Given the description of an element on the screen output the (x, y) to click on. 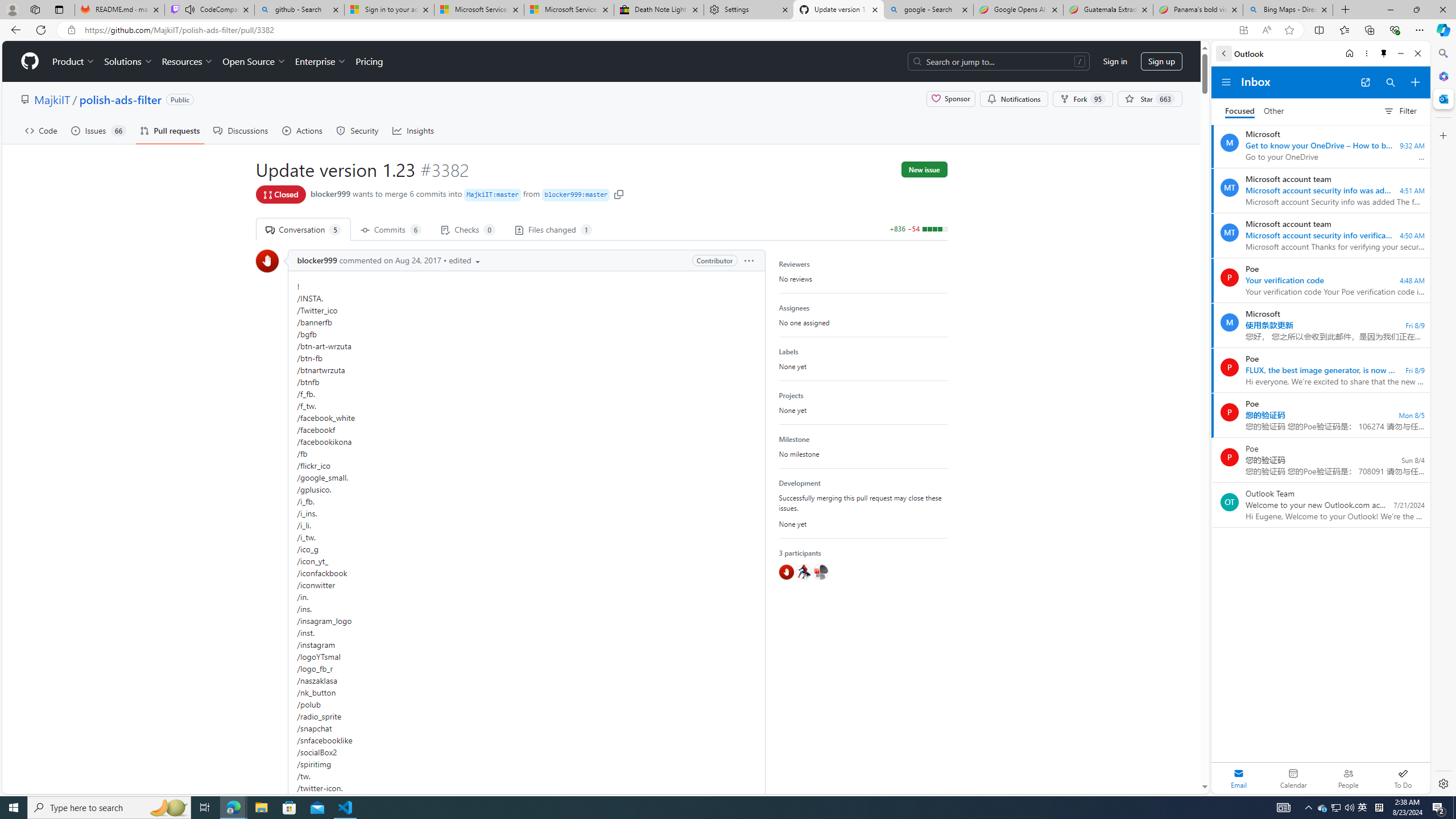
@hawkeye116477 (802, 572)
App available. Install GitHub (1243, 29)
Product (74, 60)
